Given the description of an element on the screen output the (x, y) to click on. 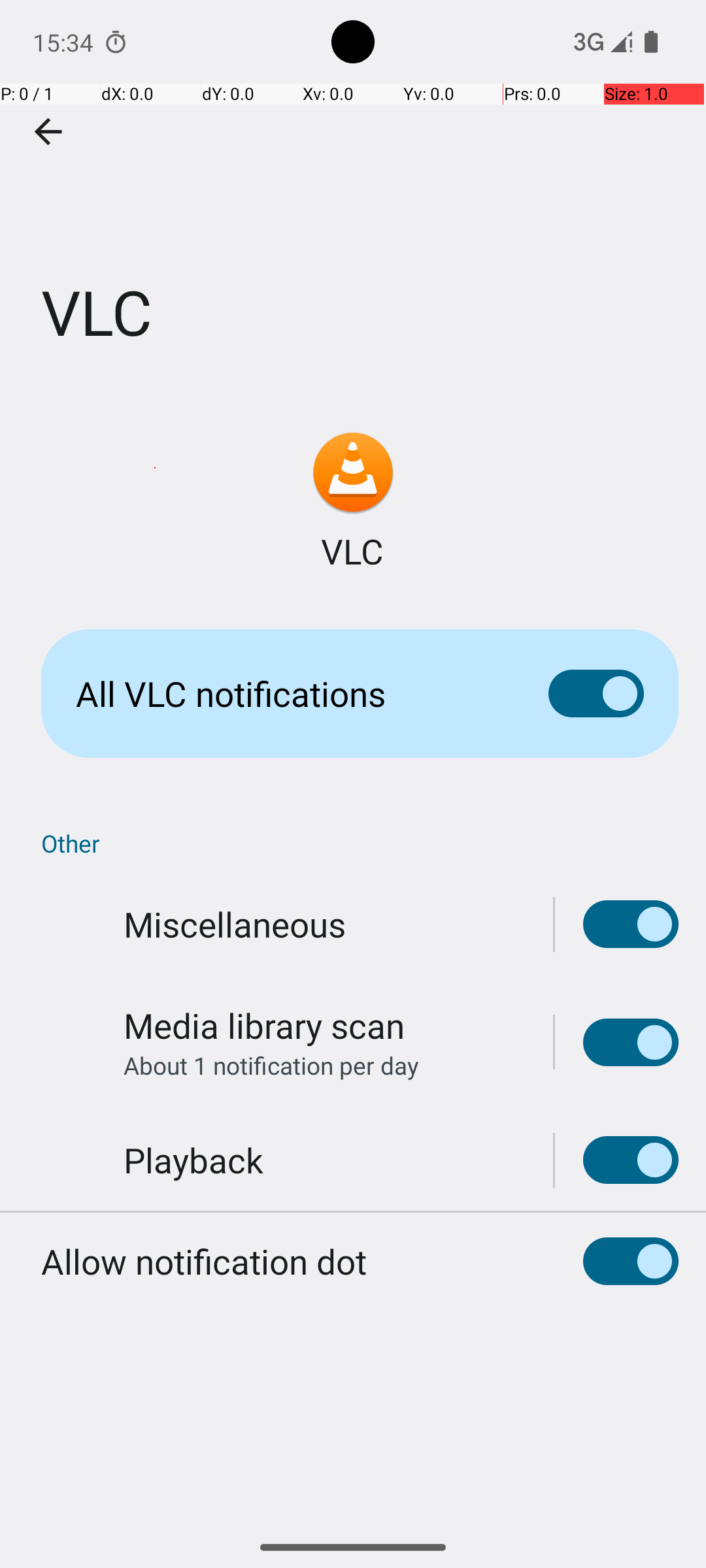
All VLC notifications Element type: android.widget.TextView (291, 693)
Media library scan Element type: android.widget.TextView (264, 1025)
About 1 notification per day Element type: android.widget.TextView (271, 1064)
Playback Element type: android.widget.TextView (193, 1159)
